Given the description of an element on the screen output the (x, y) to click on. 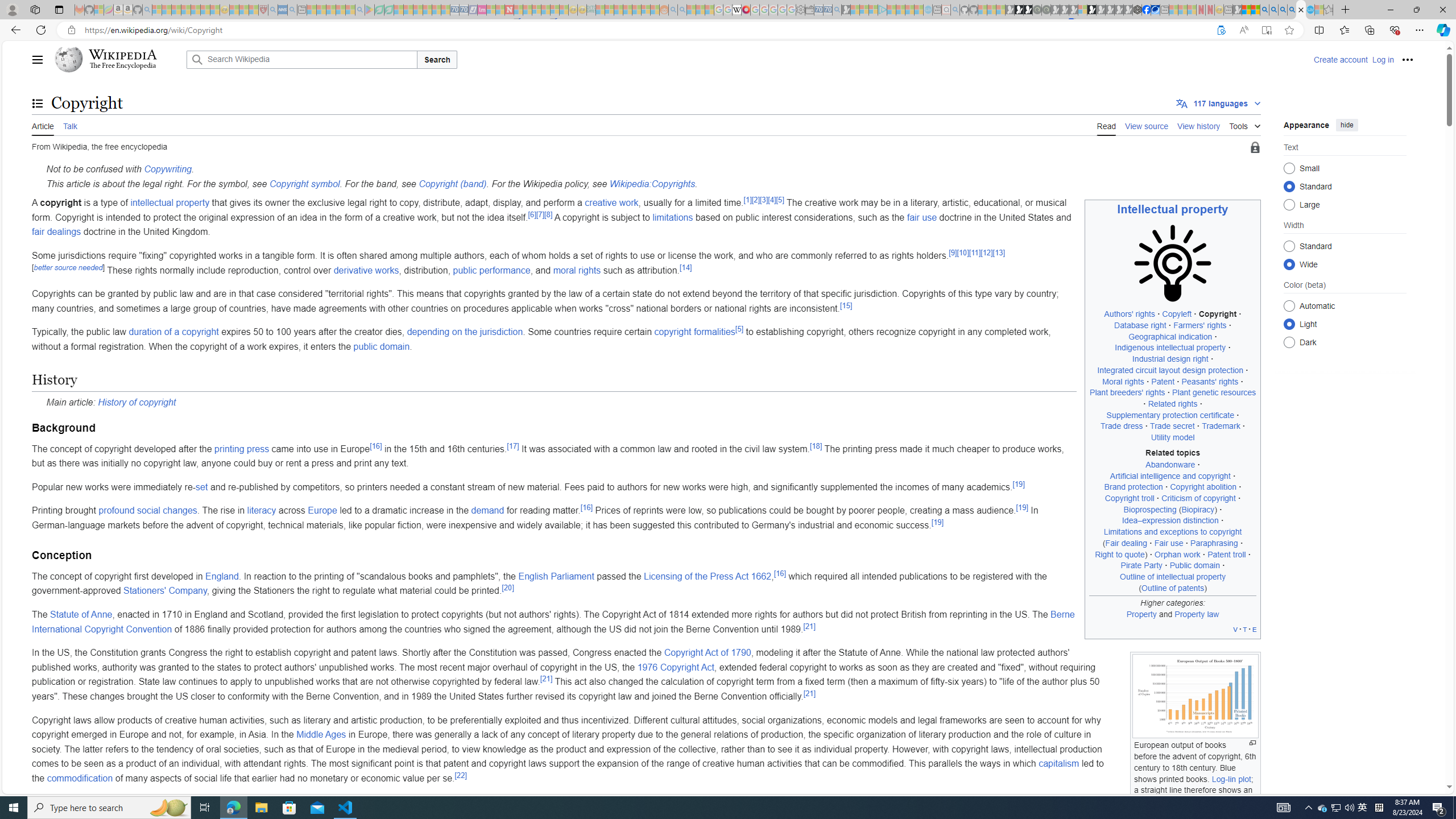
Log in (1382, 58)
Sign in to your account - Sleeping (1082, 9)
Create account (1340, 58)
Copyright (band) (452, 183)
App bar (728, 29)
Expert Portfolios - Sleeping (627, 9)
Right to quote) (1120, 554)
Enter Immersive Reader (F9) (1266, 29)
Play Zoo Boom in your browser | Games from Microsoft Start (1018, 9)
[10] (962, 252)
[5] (739, 329)
